Given the description of an element on the screen output the (x, y) to click on. 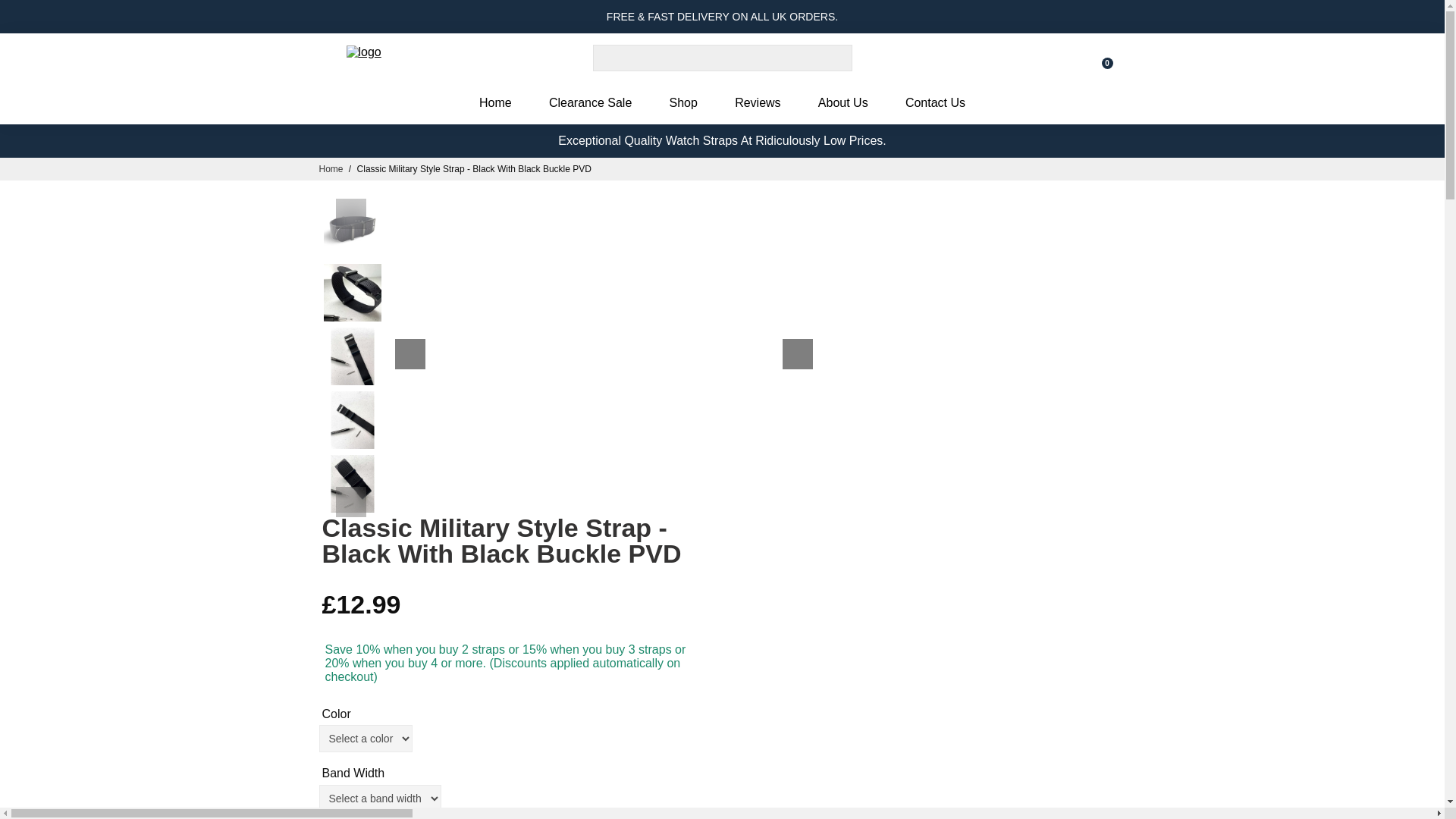
Shop (683, 102)
Home (495, 102)
Clearance Sale (590, 102)
Home (330, 168)
